Given the description of an element on the screen output the (x, y) to click on. 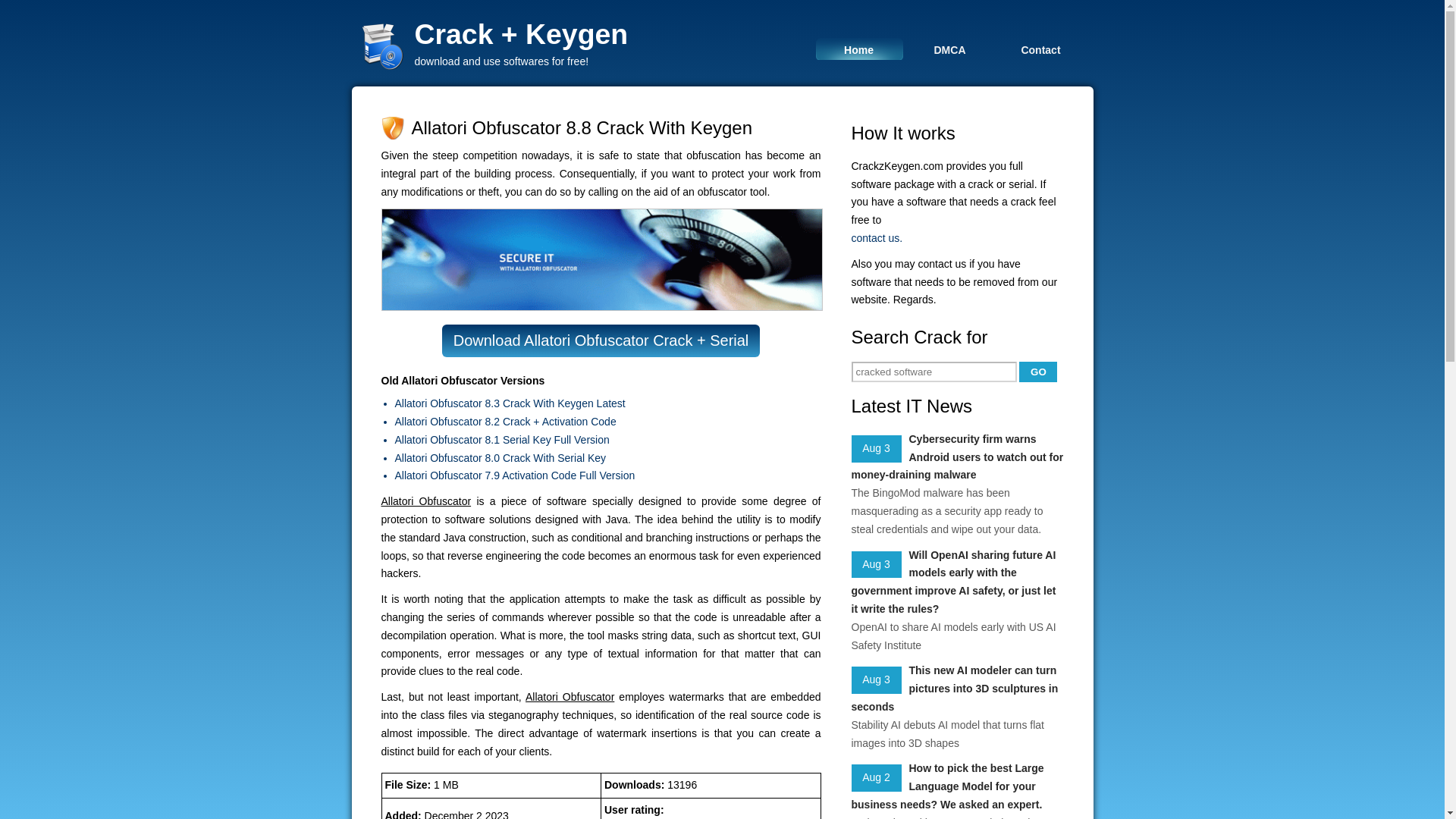
Home (858, 48)
Allatori Obfuscator 7.9 Activation Code Full Version (607, 475)
GO (1038, 371)
Allatori Obfuscator 8.1 Serial Key Full Version (607, 440)
GO (1038, 371)
contact us. (956, 239)
Allatori Obfuscator 8.0 Crack With Serial Key (607, 458)
DMCA (949, 48)
Allatori Obfuscator 8.3 Crack With Keygen Latest (607, 403)
Contact (1040, 48)
